Given the description of an element on the screen output the (x, y) to click on. 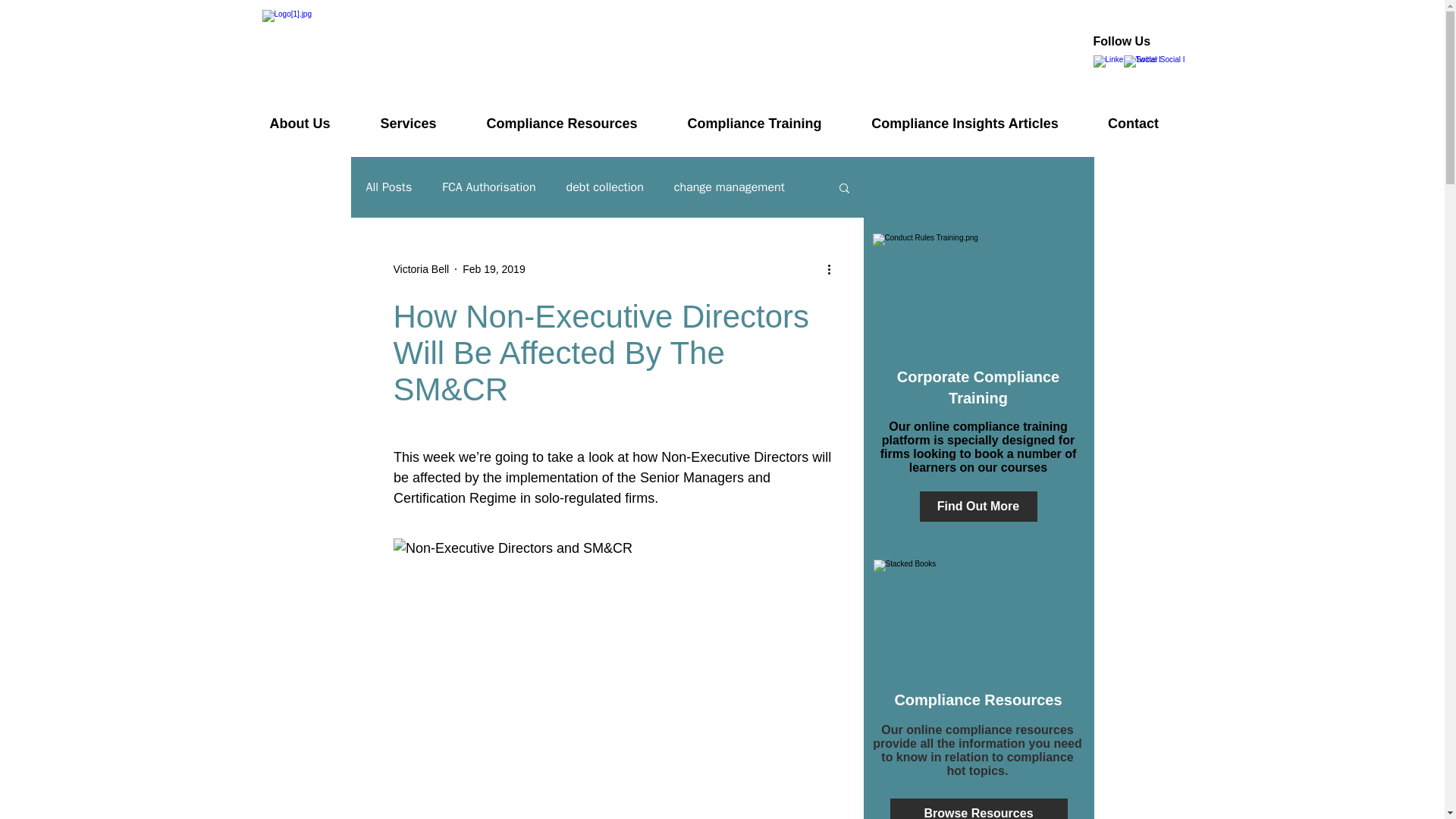
FCA Authorisation (488, 186)
debt collection (604, 186)
All Posts (388, 186)
Victoria Bell (420, 268)
Compliance Insights Articles (964, 123)
change management (729, 186)
About Us (299, 123)
Services (408, 123)
Compliance Resources (561, 123)
Feb 19, 2019 (494, 268)
